Given the description of an element on the screen output the (x, y) to click on. 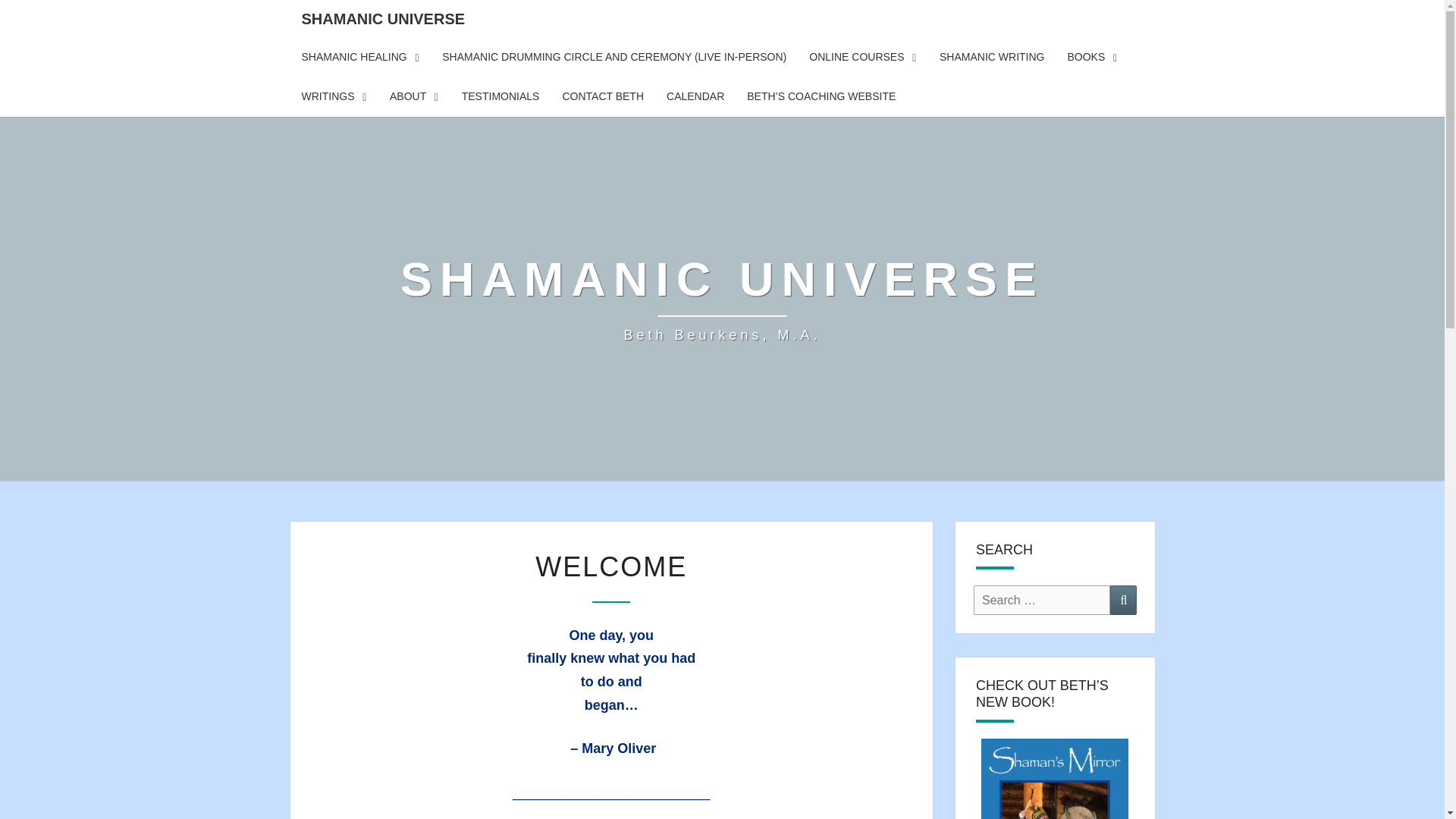
Search for: (1041, 600)
Shamanic Universe (721, 297)
CONTACT BETH (721, 297)
ABOUT (602, 96)
CALENDAR (413, 96)
Search (695, 96)
TESTIMONIALS (1123, 600)
SHAMANIC UNIVERSE (500, 96)
SHAMANIC HEALING (382, 18)
